Given the description of an element on the screen output the (x, y) to click on. 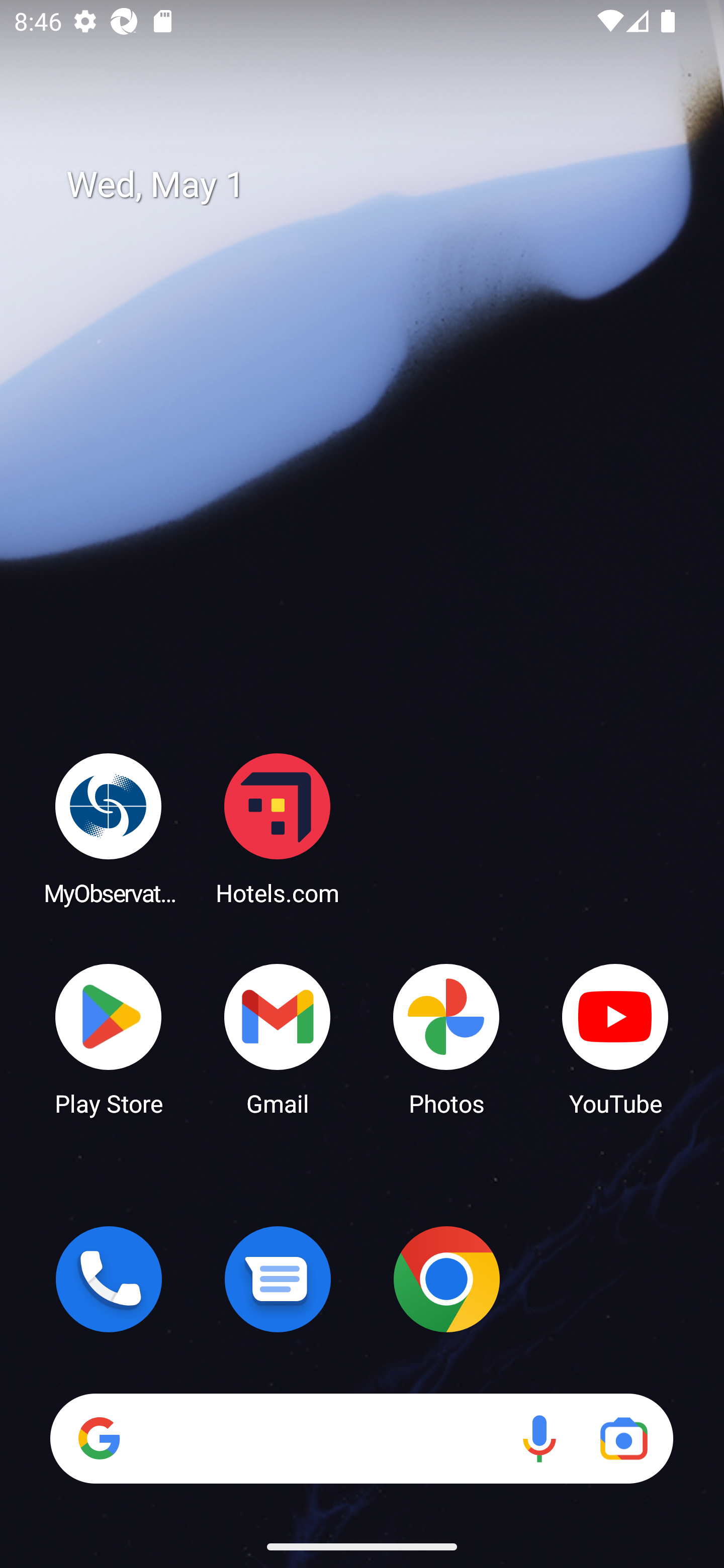
Wed, May 1 (375, 184)
MyObservatory (108, 828)
Hotels.com (277, 828)
Play Store (108, 1038)
Gmail (277, 1038)
Photos (445, 1038)
YouTube (615, 1038)
Phone (108, 1279)
Messages (277, 1279)
Chrome (446, 1279)
Search Voice search Google Lens (361, 1438)
Voice search (539, 1438)
Google Lens (623, 1438)
